Given the description of an element on the screen output the (x, y) to click on. 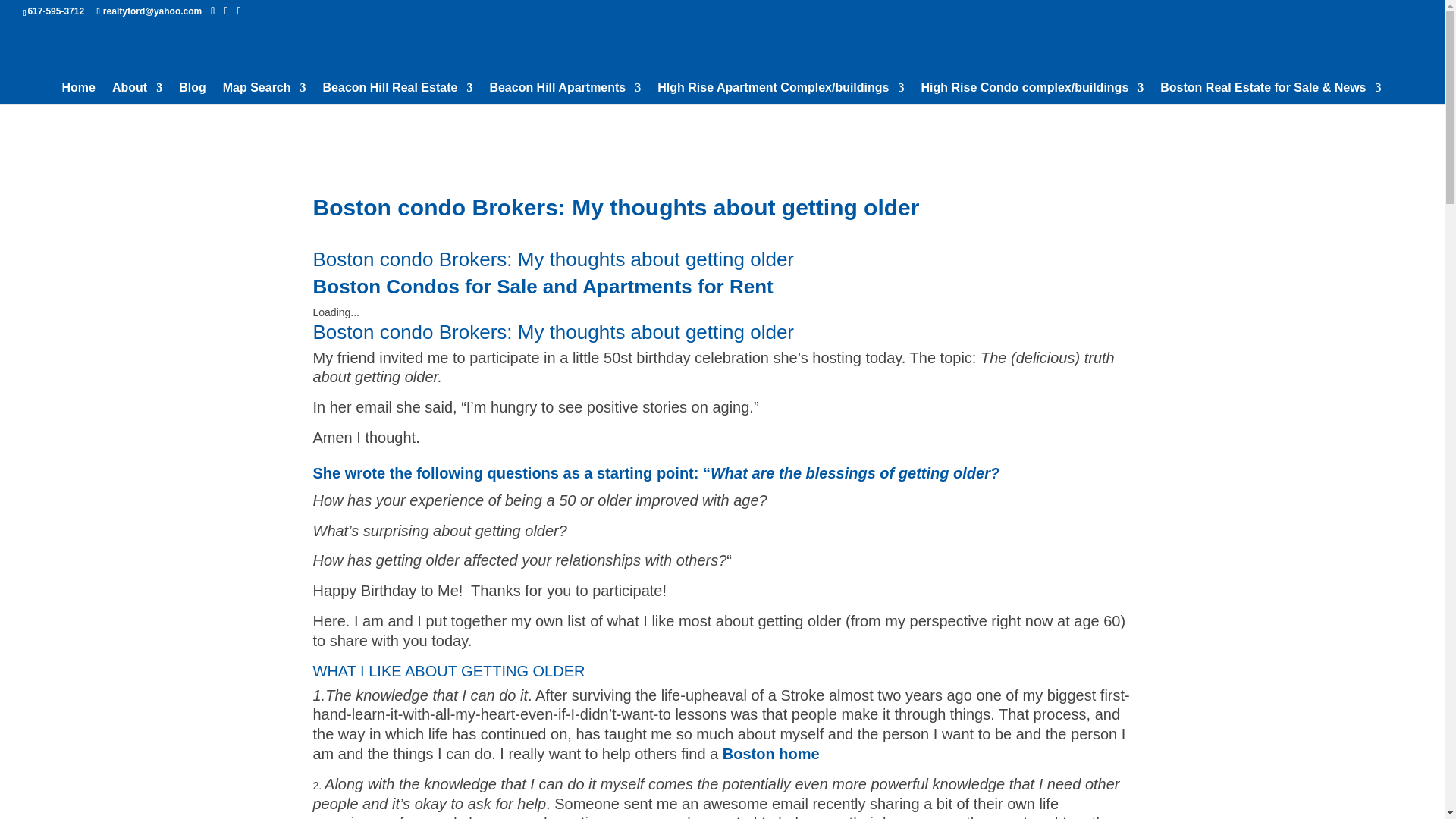
Map Search (263, 93)
617-595-3712 (55, 10)
Blog (192, 93)
Home (79, 93)
Beacon Hill Real Estate (398, 93)
Beacon Hill Apartments (564, 93)
About (136, 93)
